Given the description of an element on the screen output the (x, y) to click on. 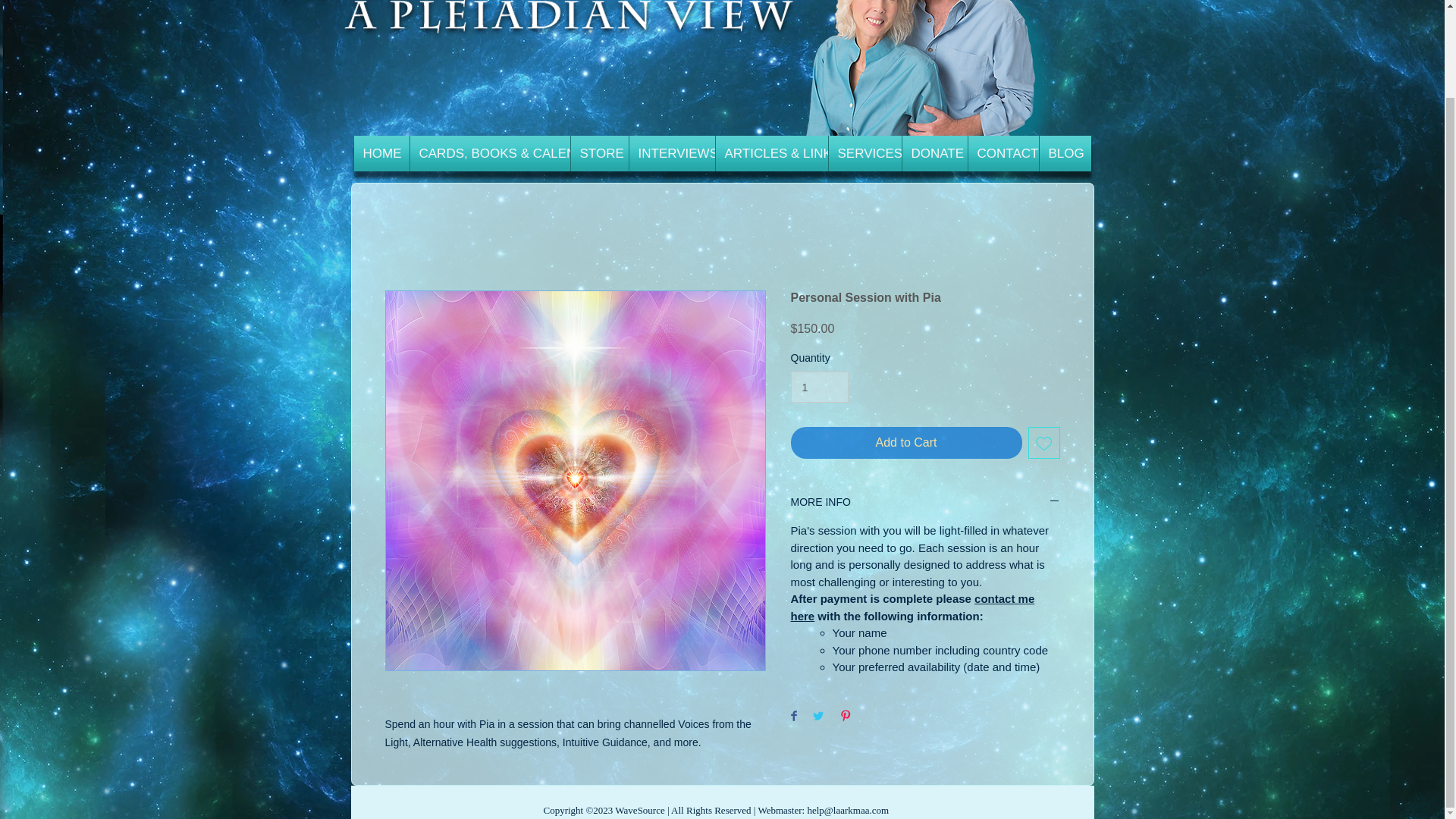
STORE (599, 153)
INTERVIEWS (671, 153)
HOME (381, 153)
SERVICES (864, 153)
1 (818, 386)
